Given the description of an element on the screen output the (x, y) to click on. 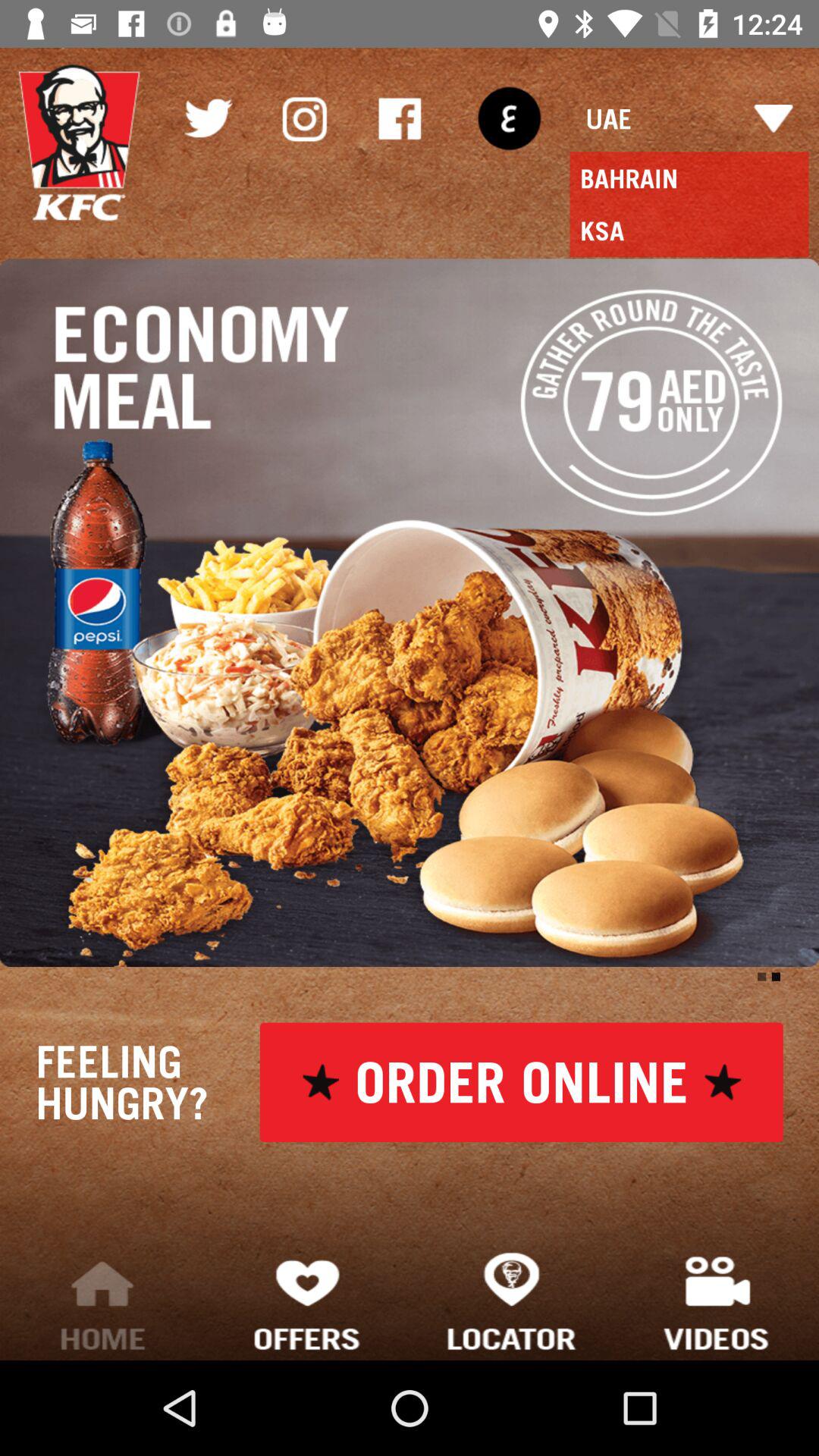
choose icon below the bahrain (688, 230)
